Given the description of an element on the screen output the (x, y) to click on. 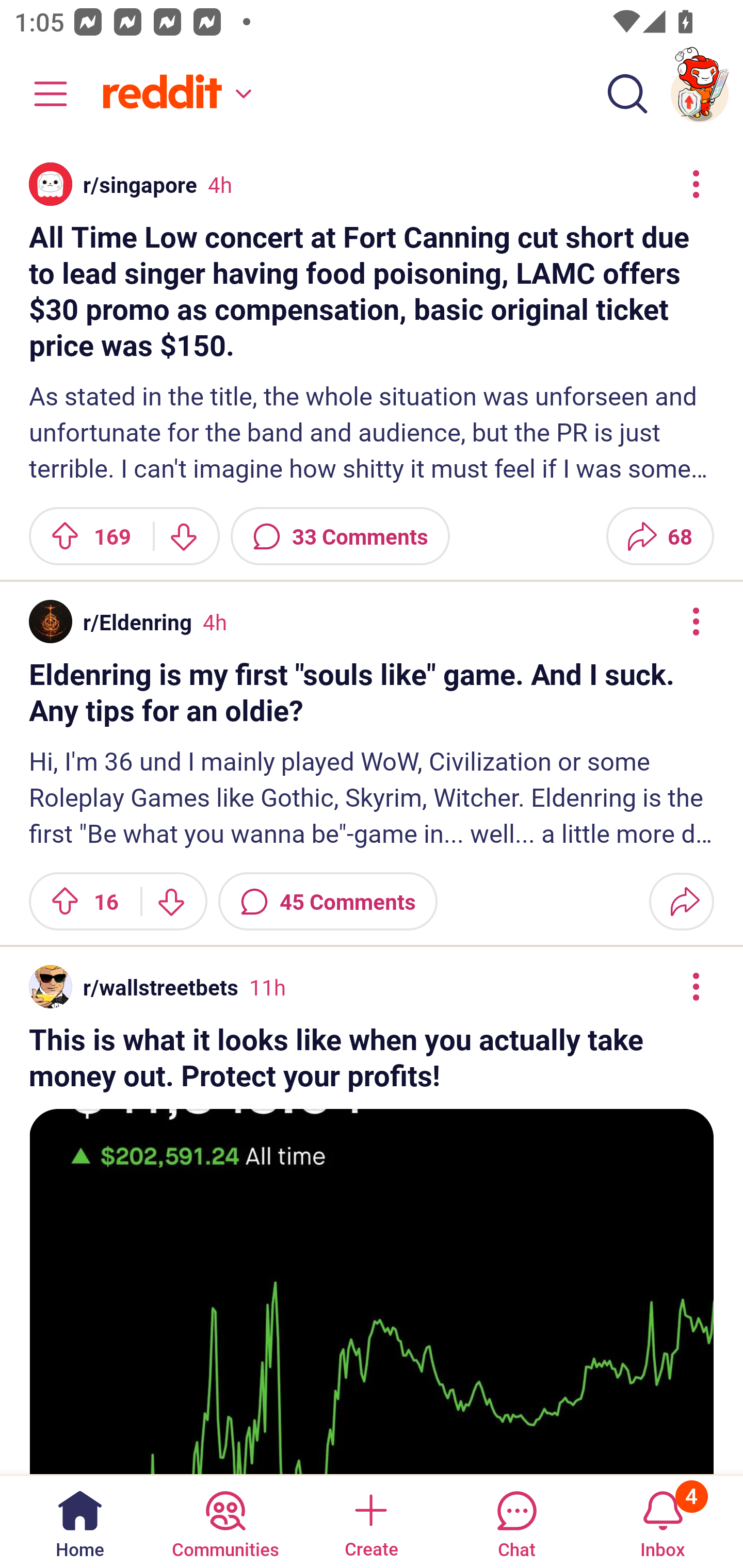
Search (626, 93)
TestAppium002 account (699, 93)
Community menu (41, 94)
Home feed (173, 94)
Home (80, 1520)
Communities (225, 1520)
Create a post Create (370, 1520)
Chat (516, 1520)
Inbox, has 4 notifications 4 Inbox (662, 1520)
